Given the description of an element on the screen output the (x, y) to click on. 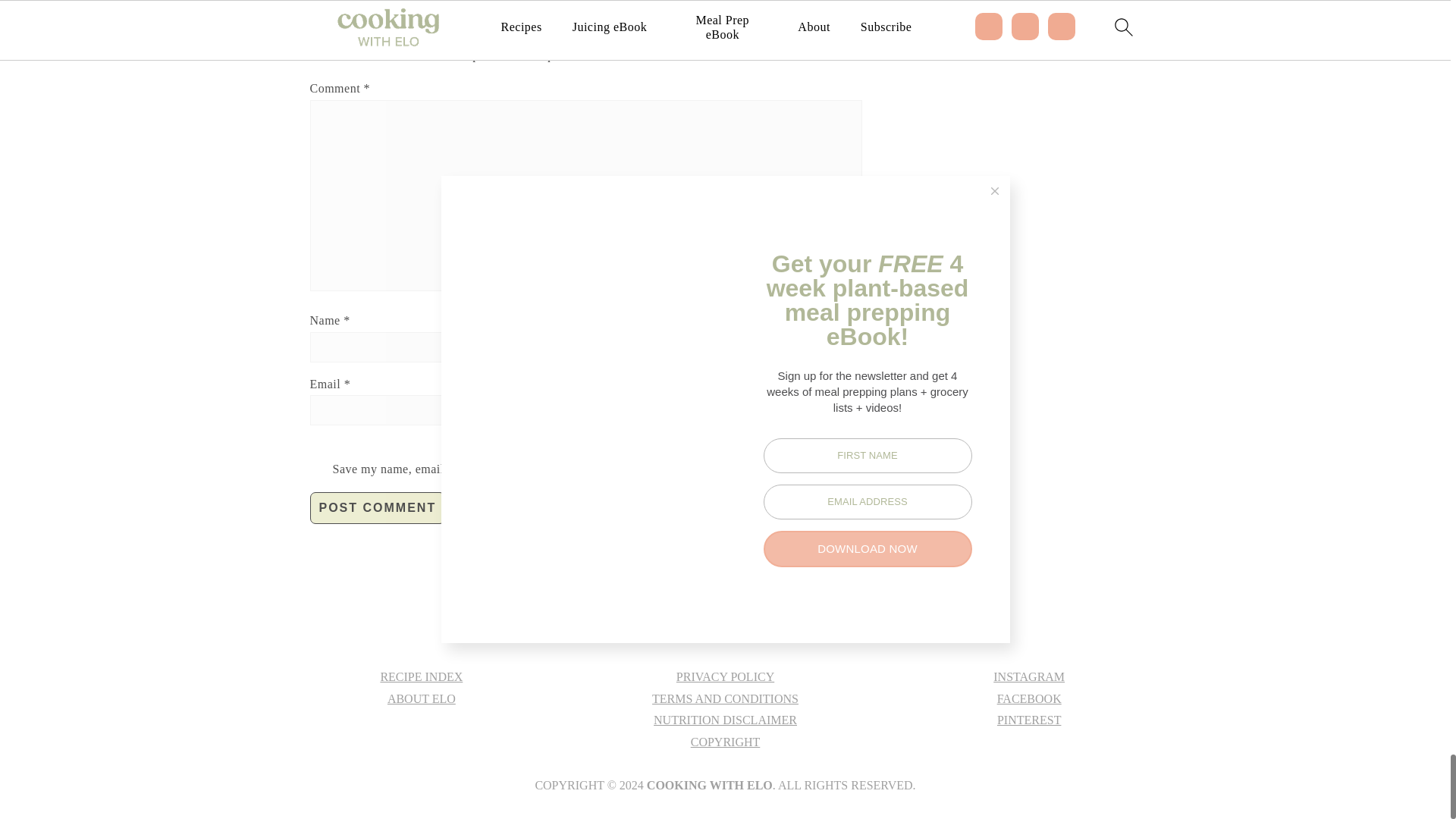
yes (584, 446)
Post Comment (376, 508)
